Given the description of an element on the screen output the (x, y) to click on. 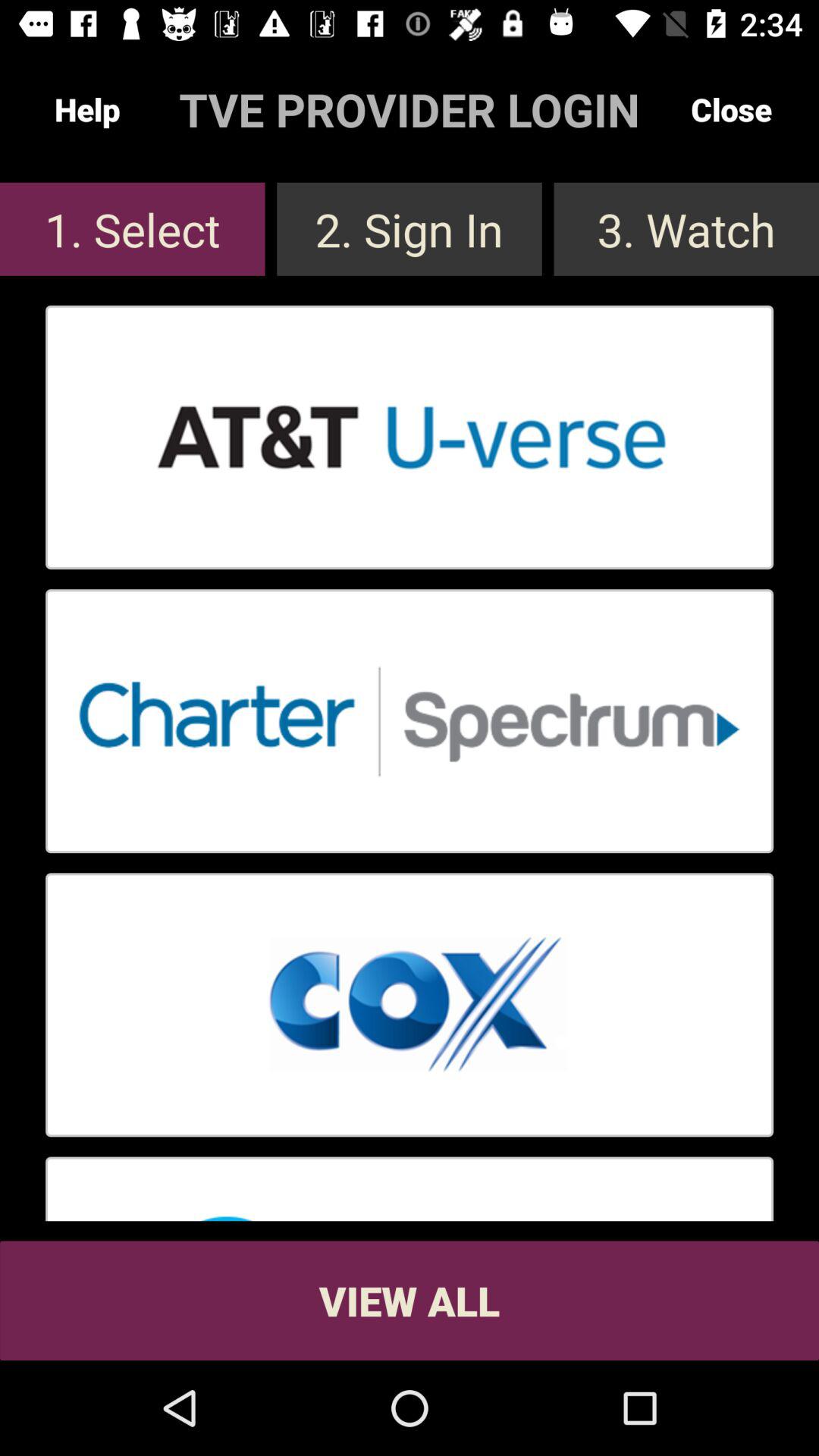
press the item to the right of tve provider login item (731, 108)
